Given the description of an element on the screen output the (x, y) to click on. 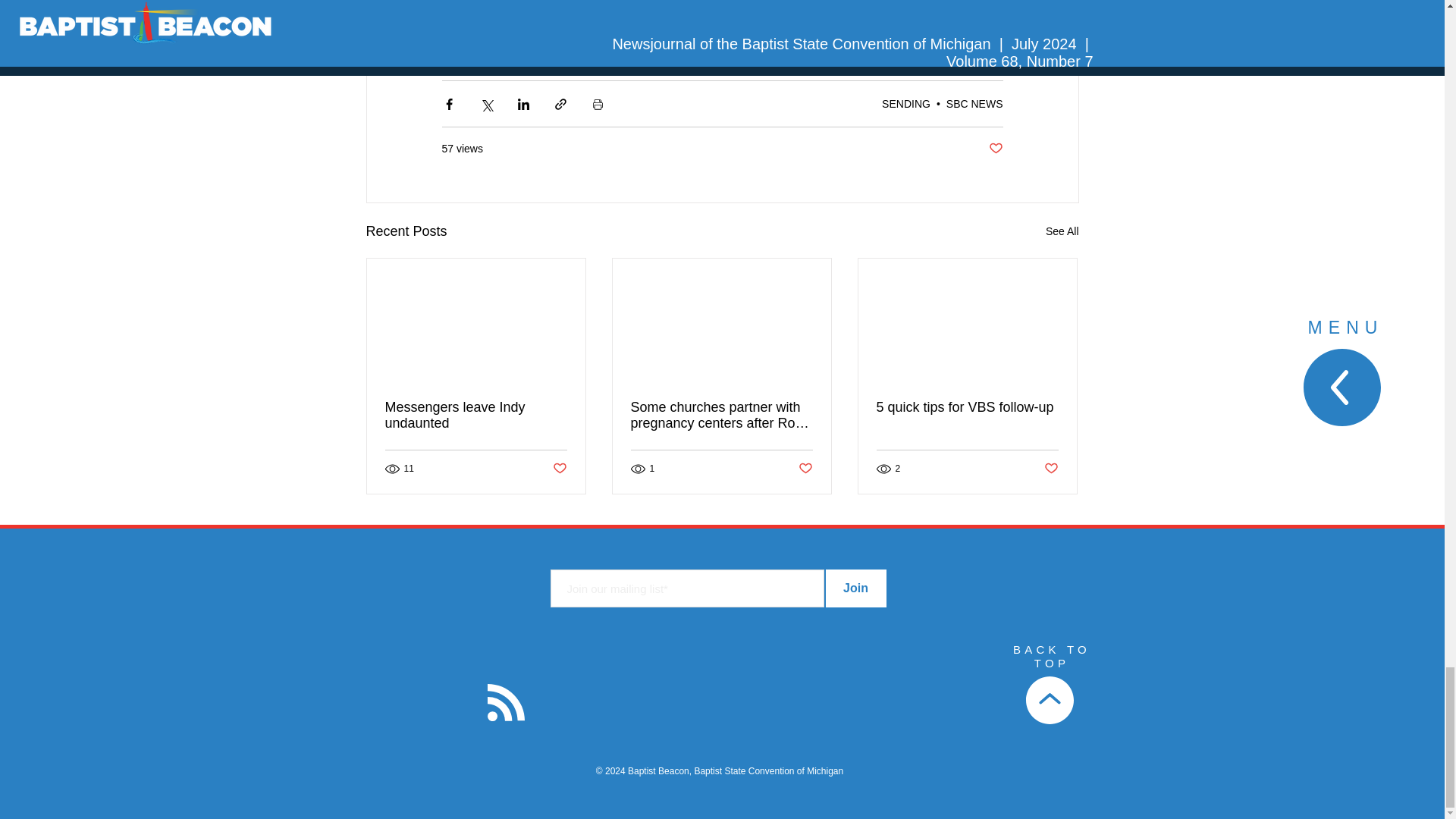
Messengers leave Indy undaunted (476, 415)
See All (1061, 231)
Join (855, 588)
5 quick tips for VBS follow-up (967, 407)
SENDING (906, 103)
Post not marked as liked (995, 148)
BACK TO TOP (1051, 655)
SBC NEWS (974, 103)
Post not marked as liked (804, 468)
Post not marked as liked (558, 468)
Post not marked as liked (1050, 468)
